Given the description of an element on the screen output the (x, y) to click on. 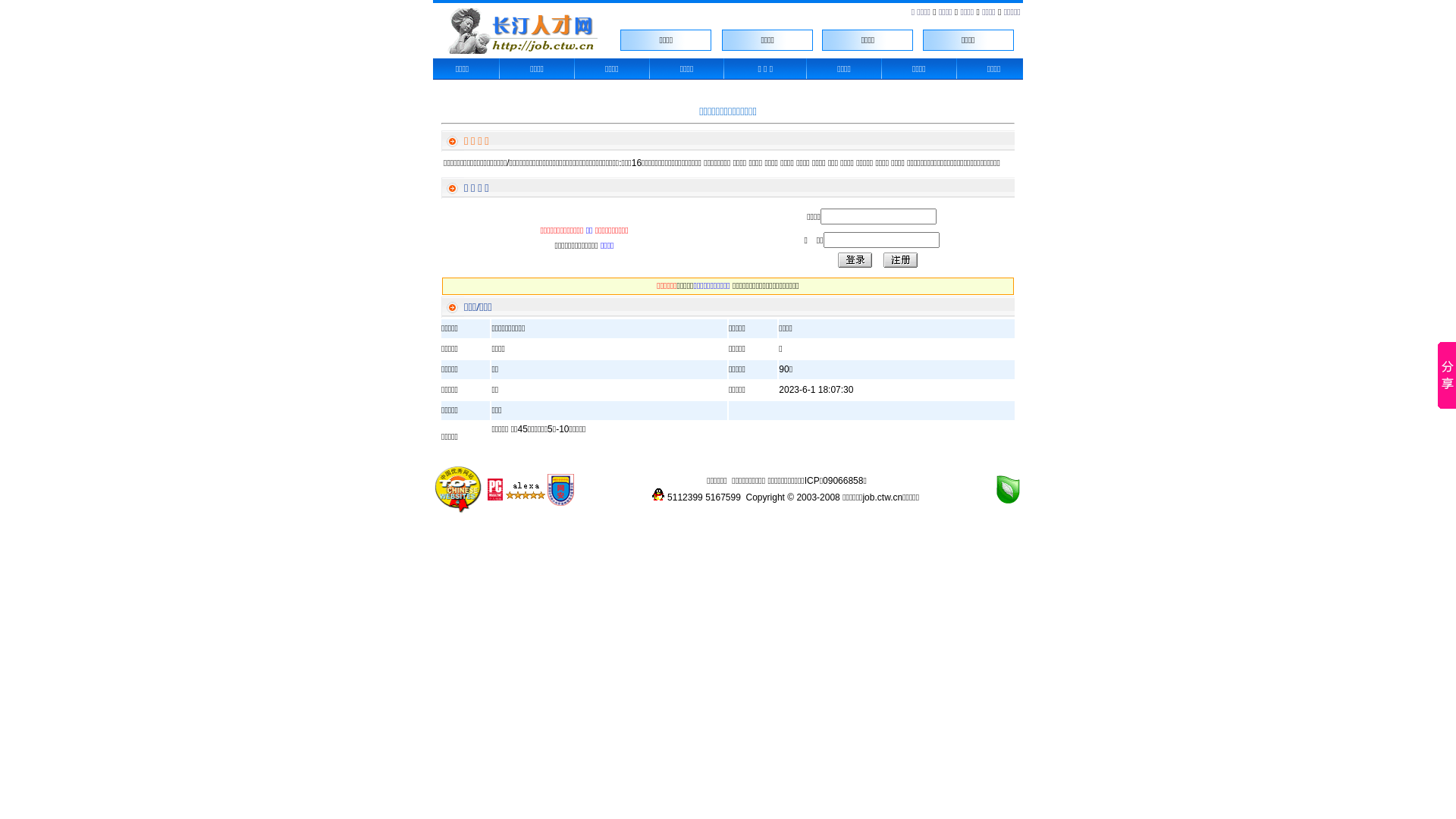
5112399 Element type: text (684, 497)
5167599 Element type: text (722, 497)
job.ctw.cn Element type: text (882, 497)
